Given the description of an element on the screen output the (x, y) to click on. 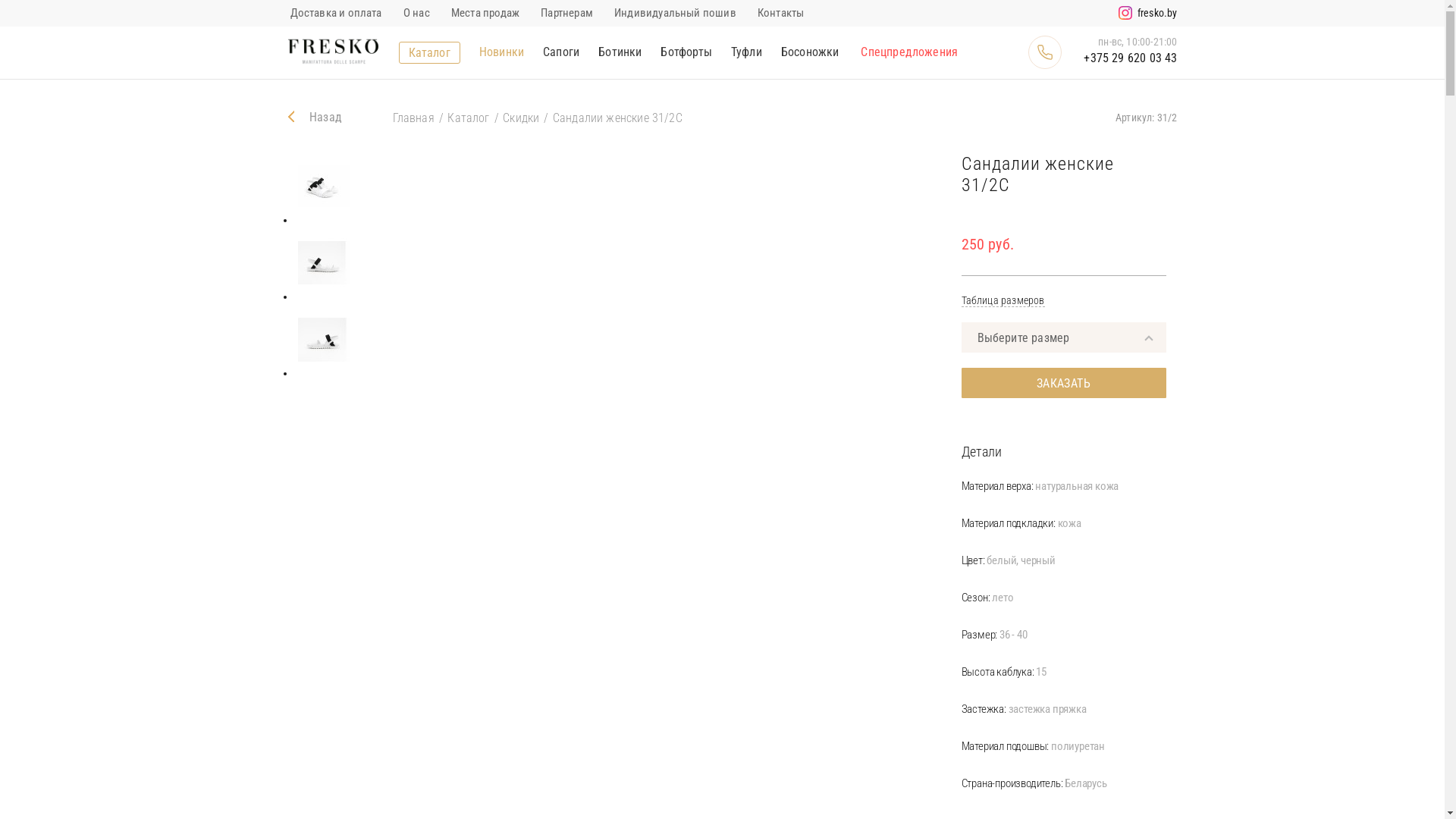
fresko.by Element type: text (1157, 13)
+375 29 620 03 43 Element type: text (1123, 57)
